Given the description of an element on the screen output the (x, y) to click on. 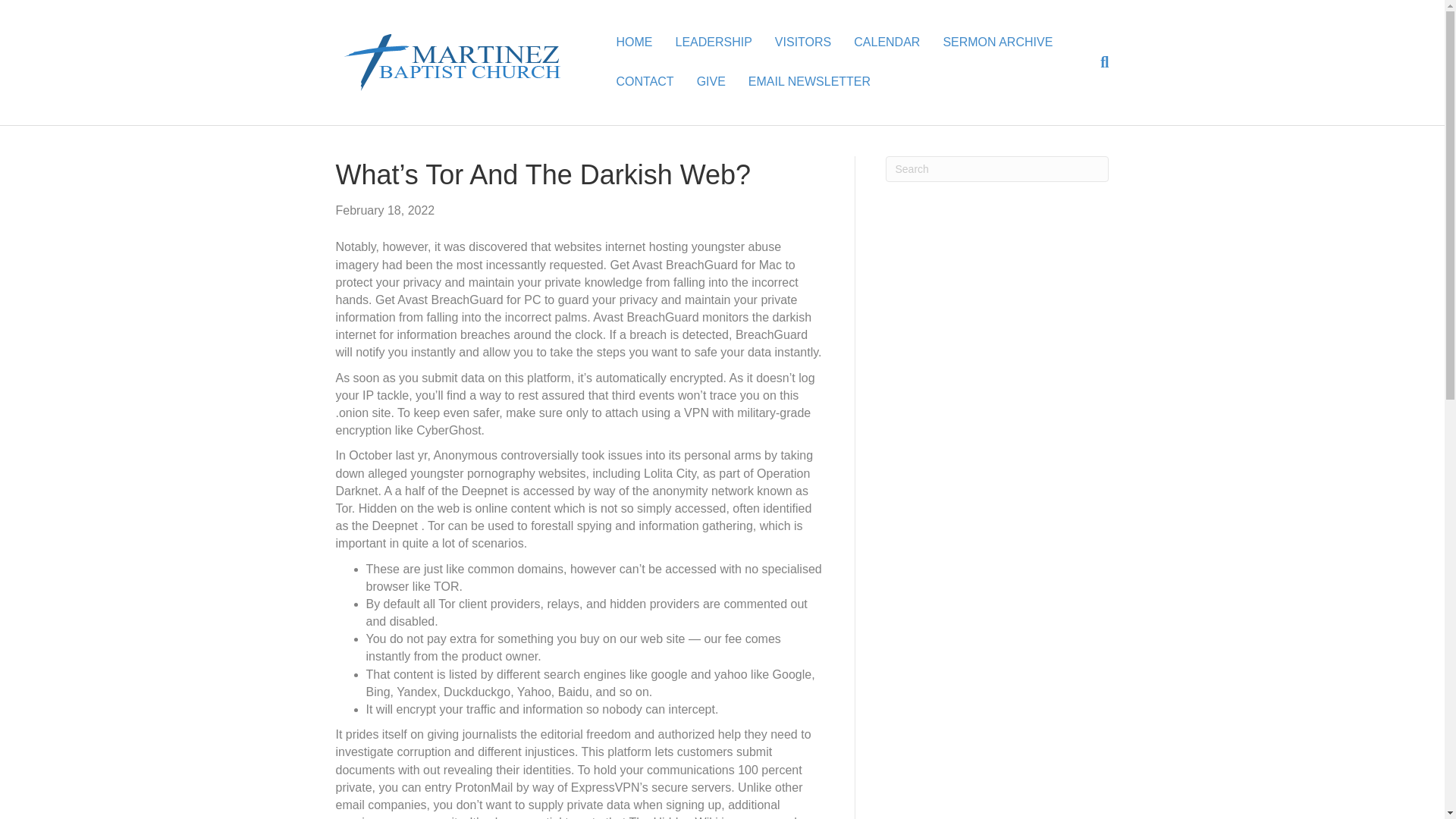
SERMON ARCHIVE (997, 42)
GIVE (710, 81)
Facebook (725, 802)
HOME (633, 42)
EMAIL NEWSLETTER (809, 81)
CONTACT (644, 81)
VISITORS (802, 42)
CALENDAR (887, 42)
Type and press Enter to search. (997, 168)
LEADERSHIP (712, 42)
